Given the description of an element on the screen output the (x, y) to click on. 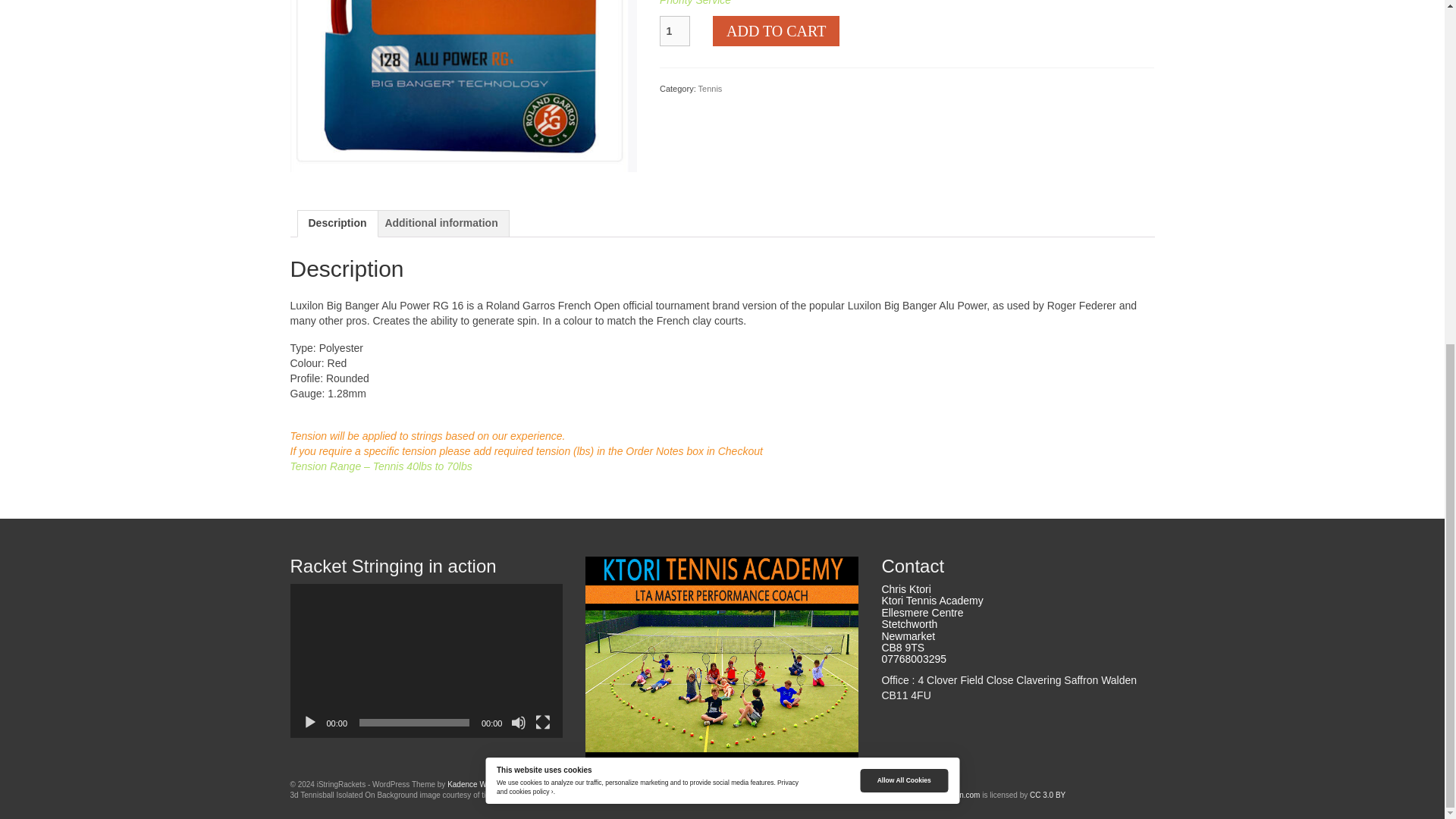
CC 3.0 BY (1047, 795)
Cookie Policy (637, 784)
Mute (518, 722)
www.flaticon.com (950, 795)
Kadence WP (469, 784)
Creative Commons BY 3.0 (1047, 795)
Priority Service (694, 2)
Play (309, 722)
Additional information (440, 223)
Luxilon Big Banger Alu Power RG (463, 2)
1 (674, 30)
Flaticon (950, 795)
Privacy Policy (589, 784)
Fullscreen (542, 722)
Freepik (888, 795)
